Given the description of an element on the screen output the (x, y) to click on. 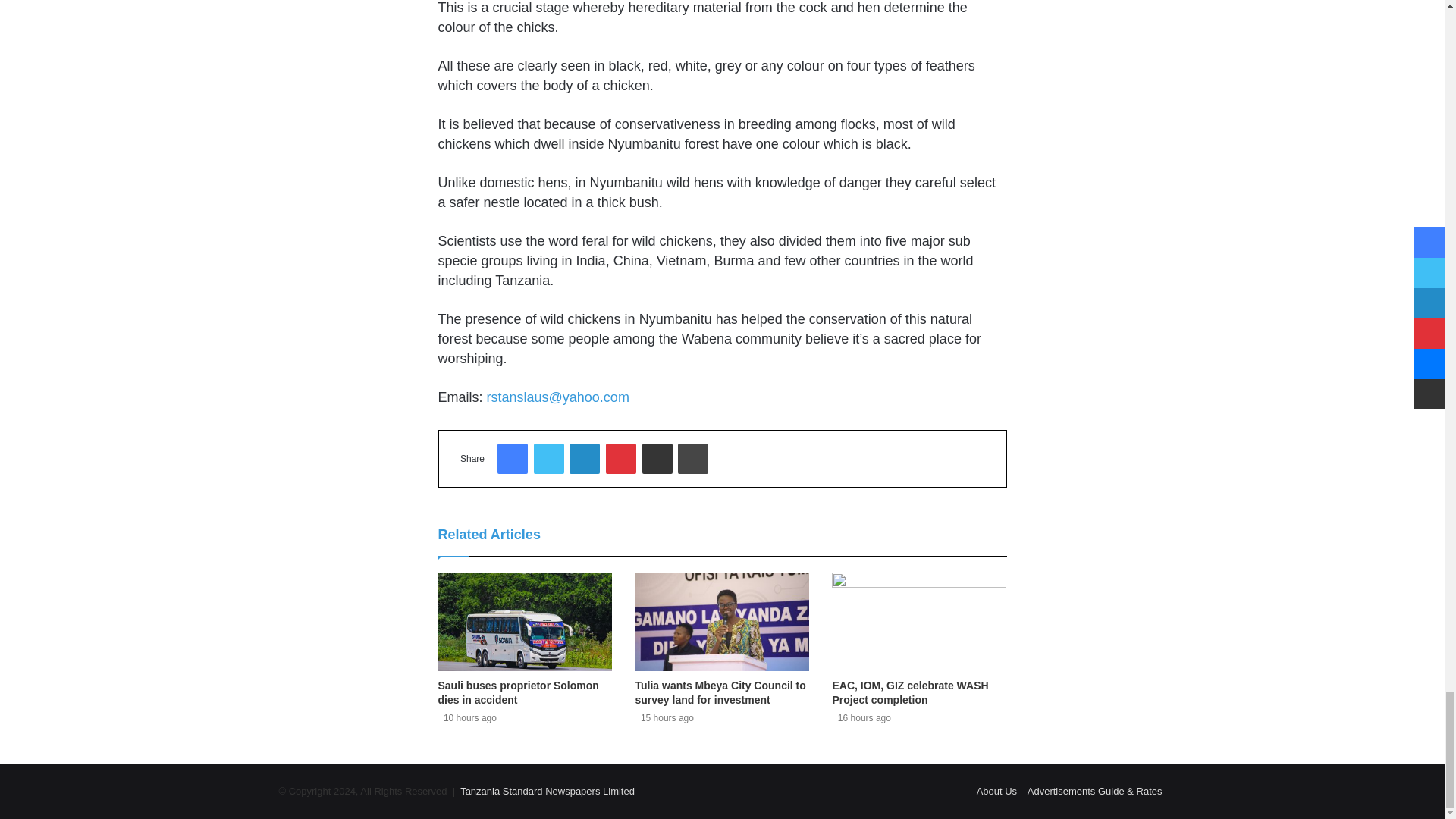
Twitter (549, 458)
Print (692, 458)
LinkedIn (584, 458)
Facebook (512, 458)
LinkedIn (584, 458)
Twitter (549, 458)
Facebook (512, 458)
Pinterest (620, 458)
Share via Email (656, 458)
Pinterest (620, 458)
